Given the description of an element on the screen output the (x, y) to click on. 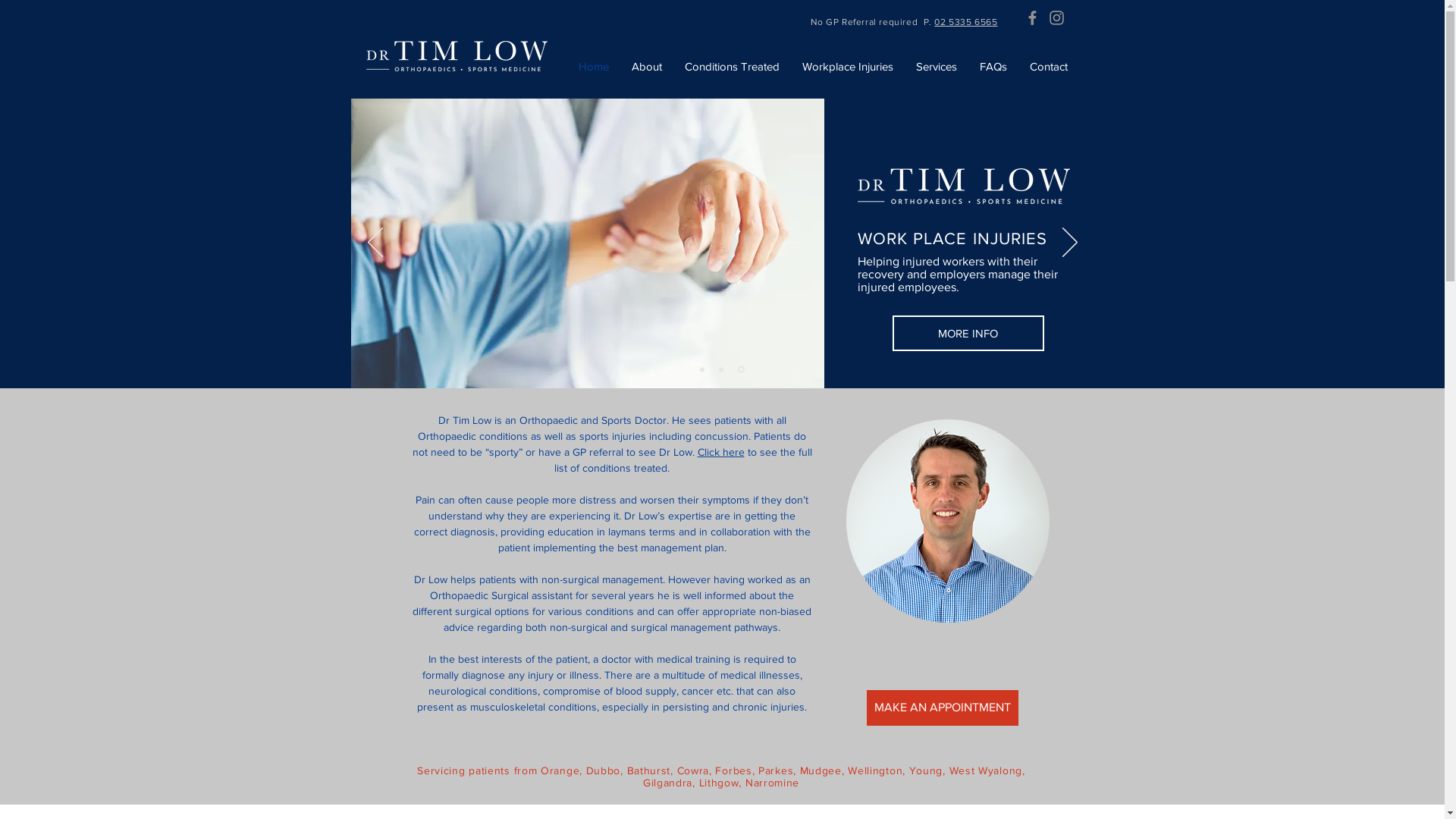
About Element type: text (646, 66)
FAQs Element type: text (992, 66)
Conditions Treated Element type: text (731, 66)
Home Element type: text (593, 66)
MAKE AN APPOINTMENT Element type: text (941, 707)
MORE INFO Element type: text (968, 327)
Workplace Injuries Element type: text (846, 66)
Services Element type: text (935, 66)
02 5335 6565 Element type: text (965, 21)
Click here Element type: text (720, 451)
Contact Element type: text (1047, 66)
